Given the description of an element on the screen output the (x, y) to click on. 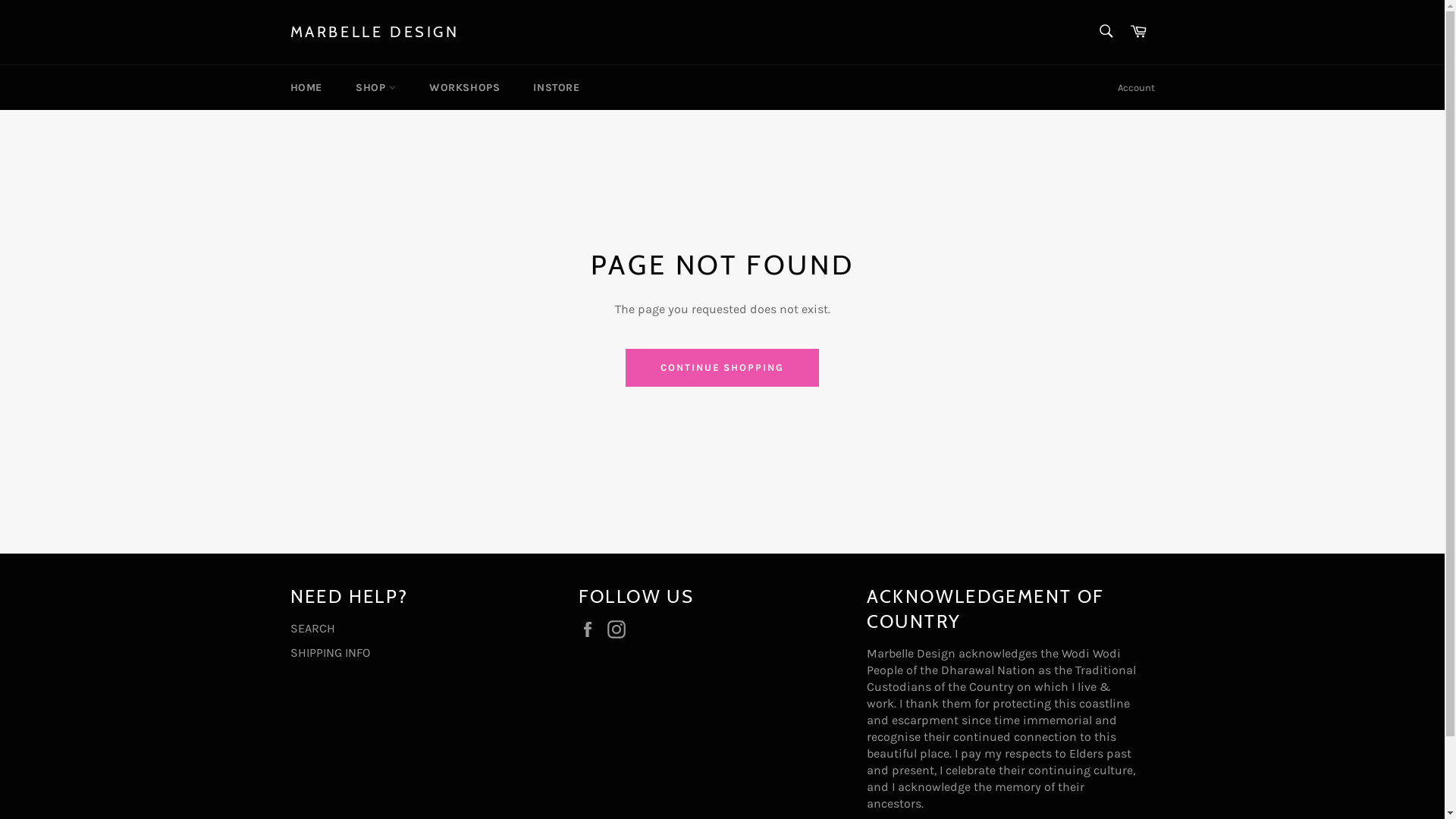
CONTINUE SHOPPING Element type: text (722, 367)
SEARCH Element type: text (311, 628)
SHOP Element type: text (375, 87)
WORKSHOPS Element type: text (464, 87)
Facebook Element type: text (590, 629)
MARBELLE DESIGN Element type: text (373, 32)
Search Element type: text (1105, 31)
HOME Element type: text (305, 87)
Instagram Element type: text (619, 629)
Account Element type: text (1136, 87)
Cart Element type: text (1138, 32)
SHIPPING INFO Element type: text (329, 652)
INSTORE Element type: text (555, 87)
